Given the description of an element on the screen output the (x, y) to click on. 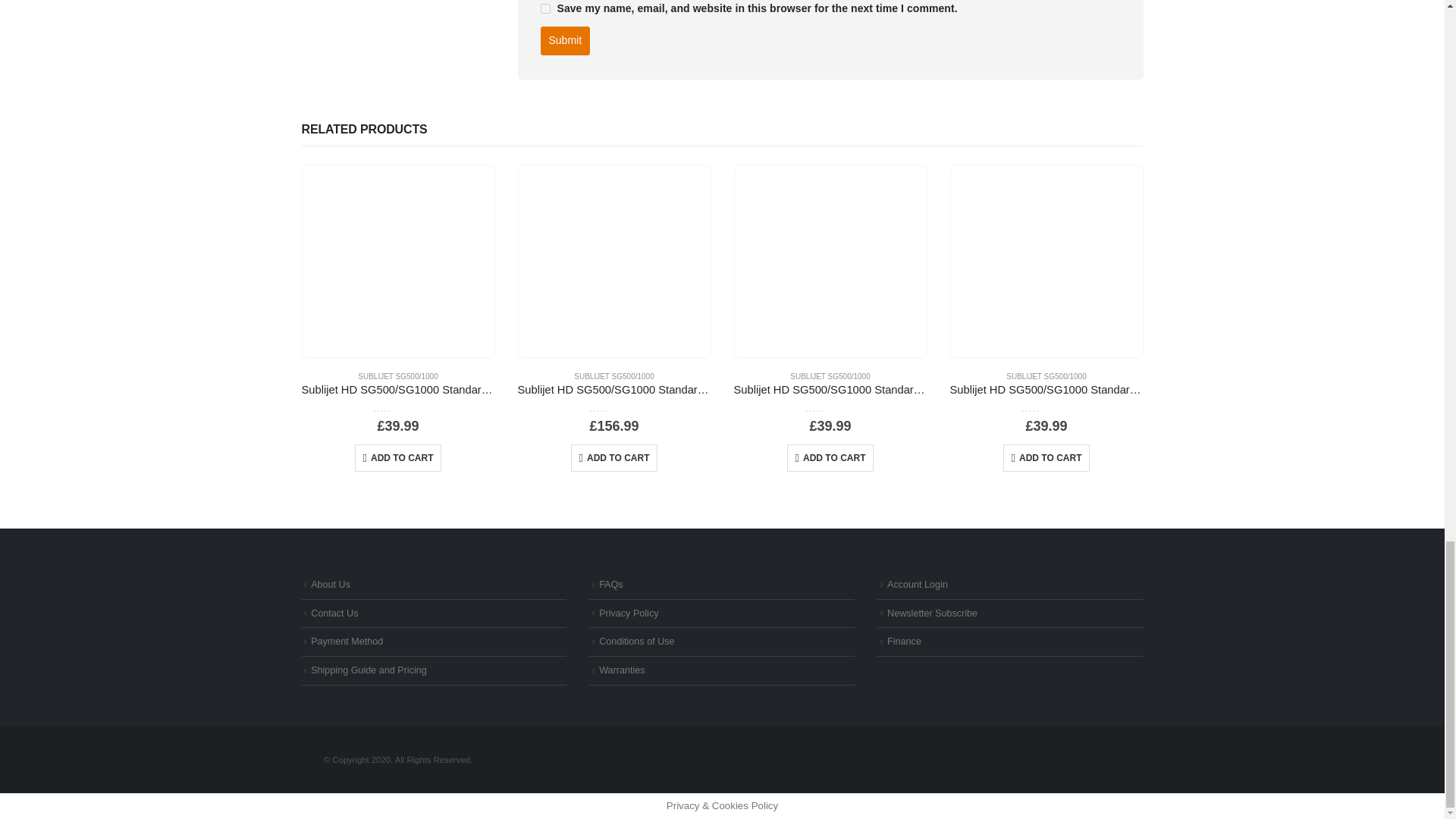
Submit (564, 40)
yes (545, 8)
